Given the description of an element on the screen output the (x, y) to click on. 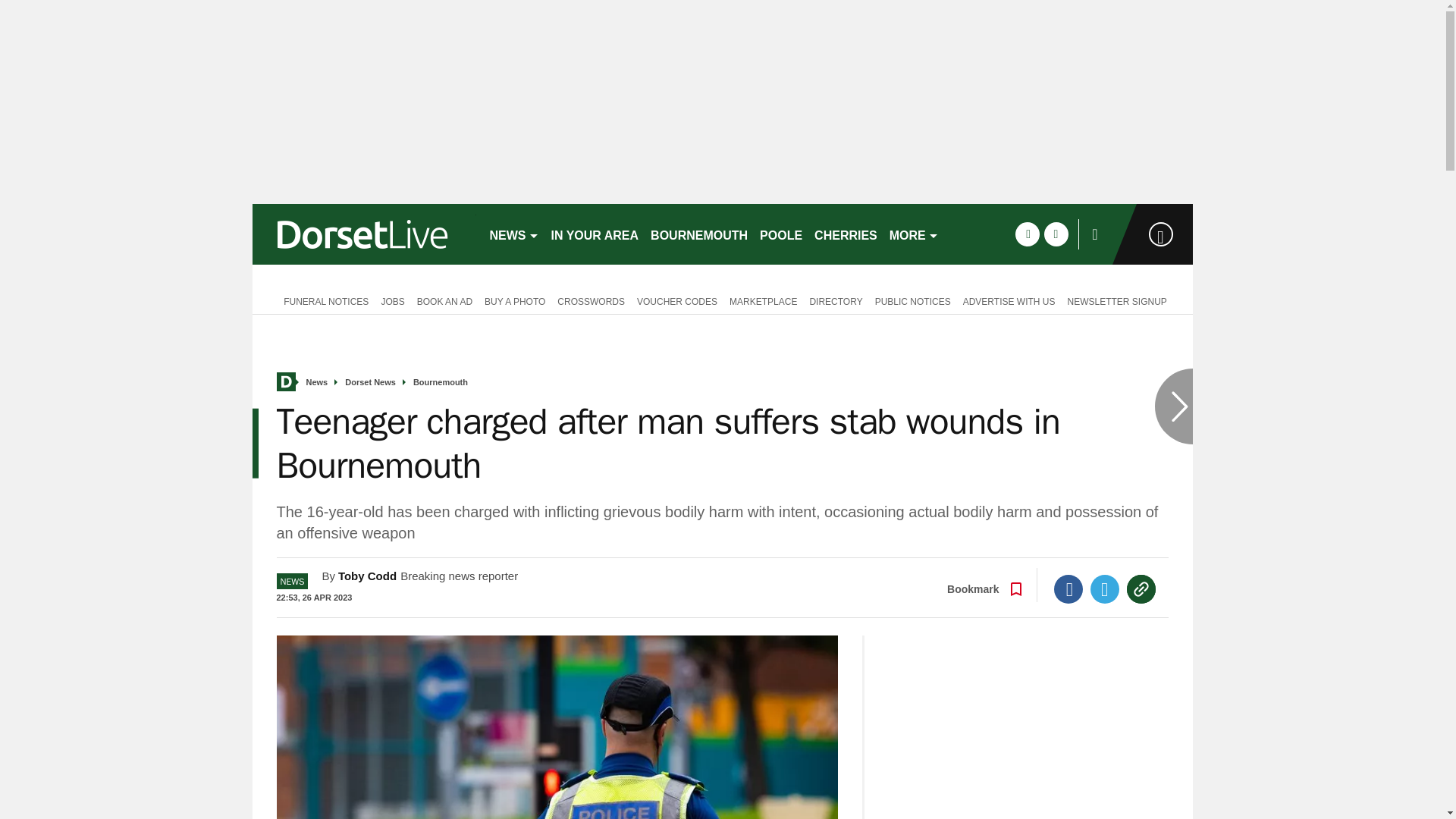
IN YOUR AREA (594, 233)
CROSSWORDS (590, 300)
CHERRIES (845, 233)
facebook (1026, 233)
NEWS (513, 233)
twitter (1055, 233)
Twitter (1104, 588)
BOOK AN AD (444, 300)
VOUCHER CODES (676, 300)
Facebook (1068, 588)
